Given the description of an element on the screen output the (x, y) to click on. 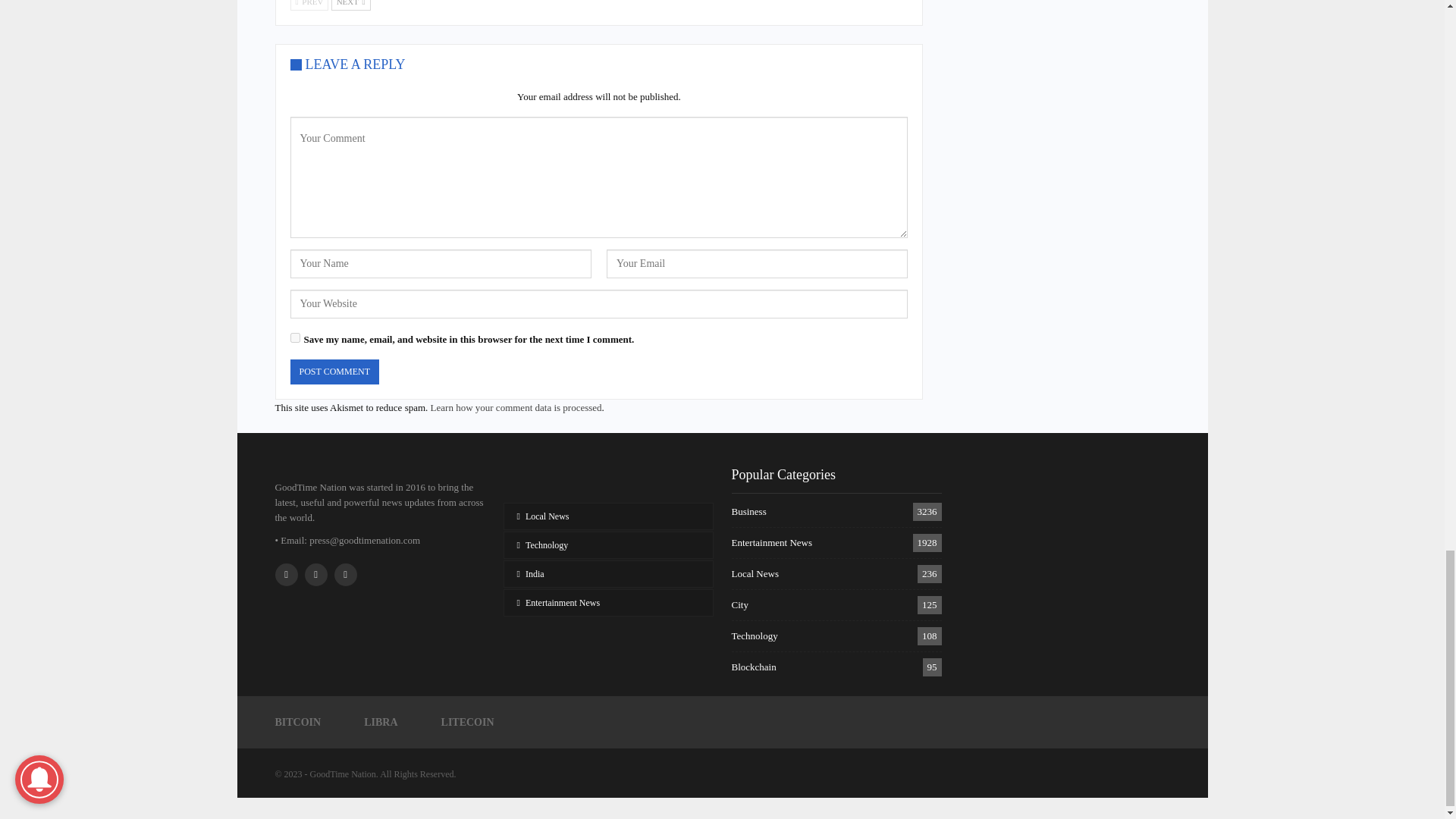
Post Comment (333, 371)
yes (294, 337)
Previous (309, 5)
